Given the description of an element on the screen output the (x, y) to click on. 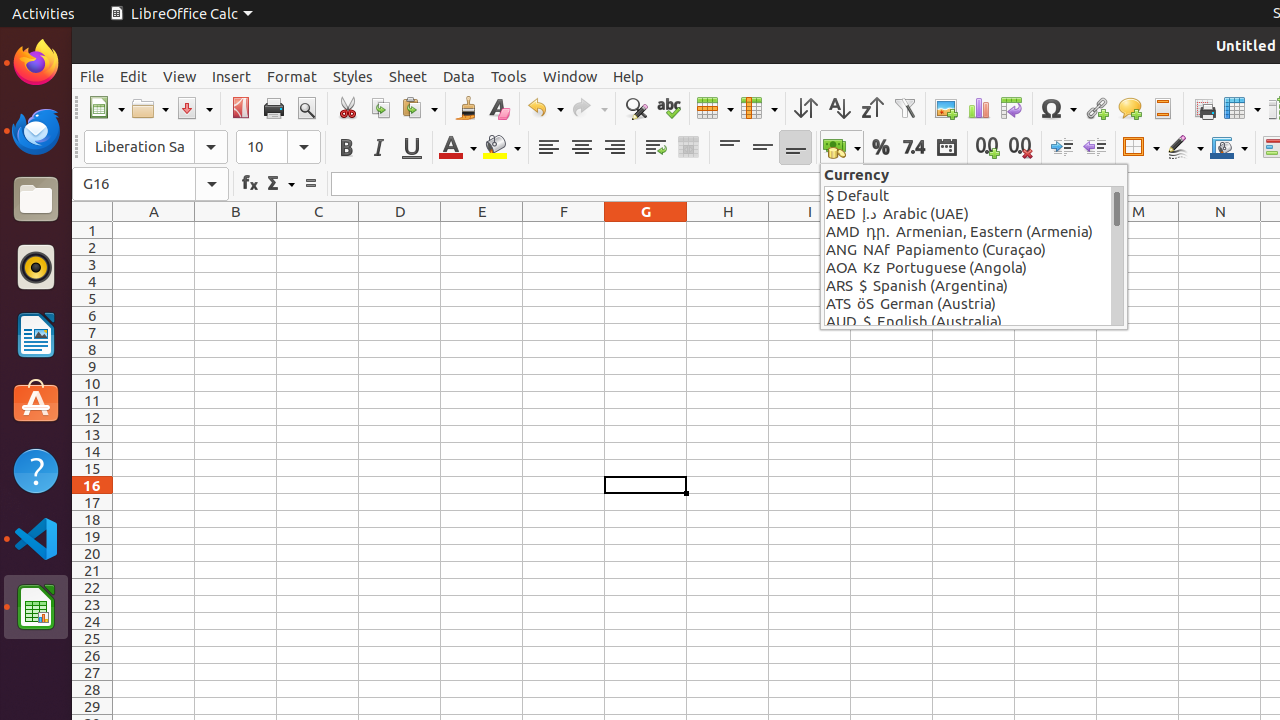
Undo Element type: push-button (545, 108)
Redo Element type: push-button (589, 108)
N1 Element type: table-cell (1220, 230)
Center Vertically Element type: push-button (762, 147)
$ ‪Default‬ Element type: list-item (968, 196)
